Given the description of an element on the screen output the (x, y) to click on. 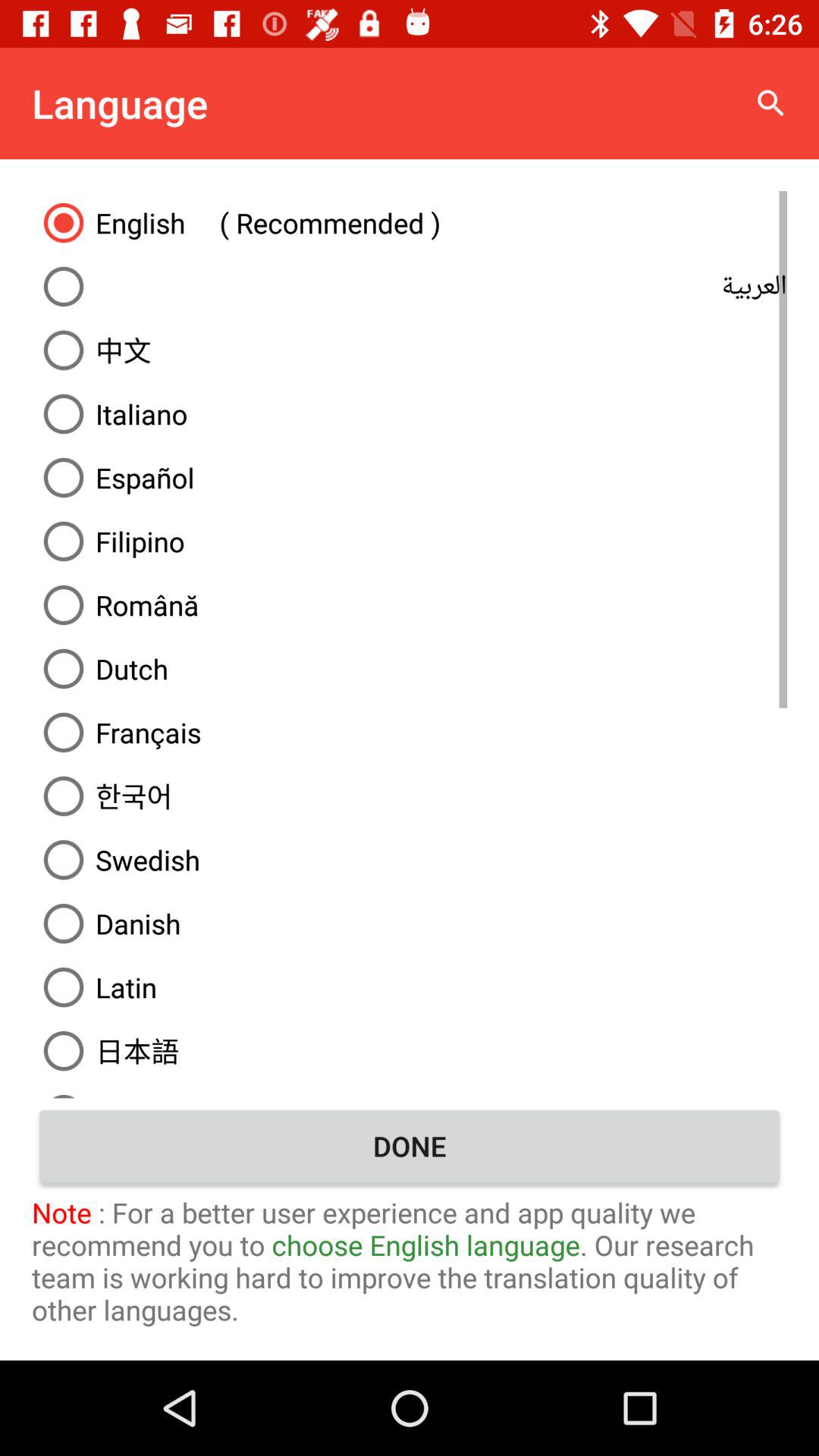
scroll to the filipino item (409, 541)
